Given the description of an element on the screen output the (x, y) to click on. 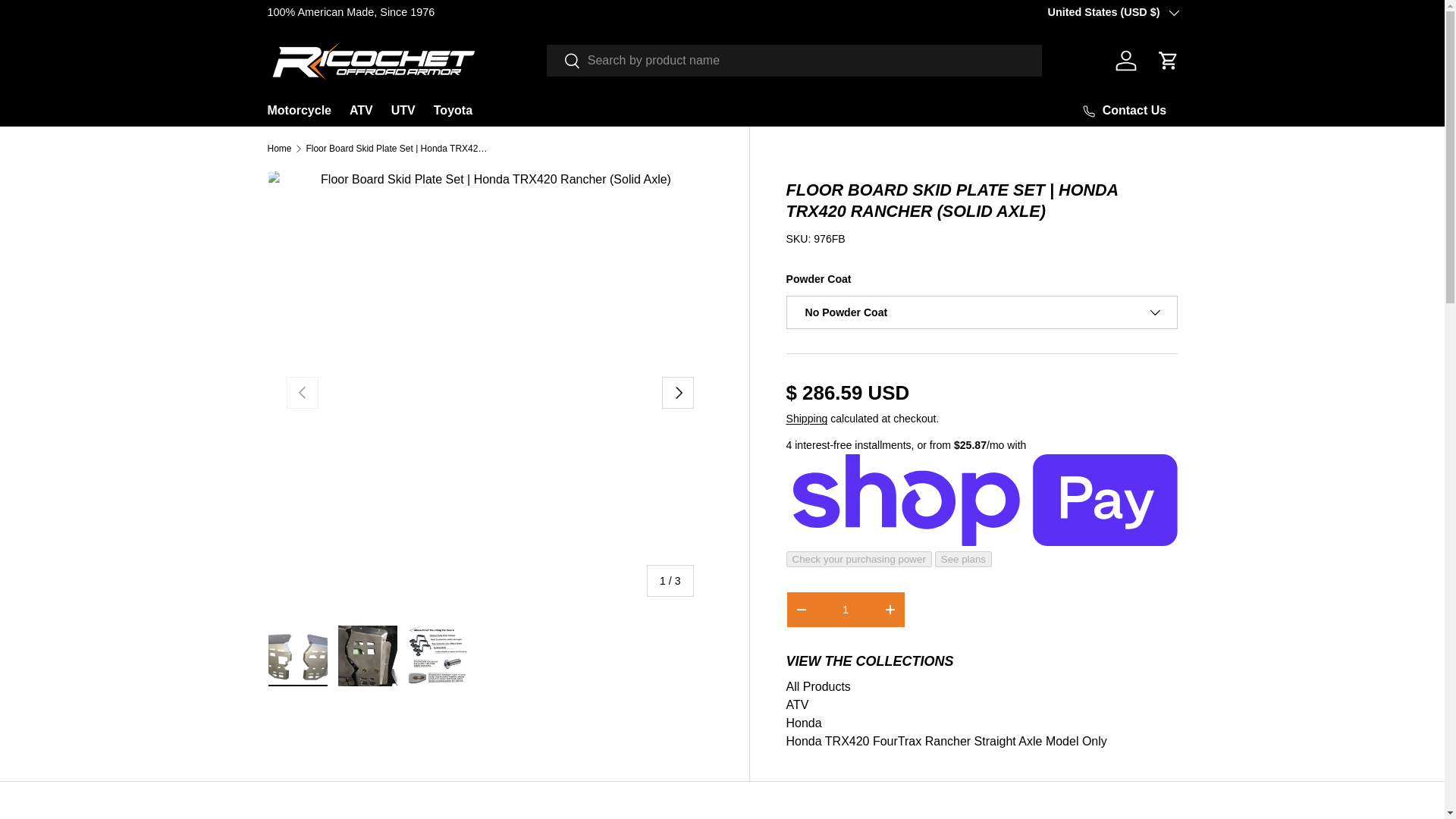
Motorcycle (298, 110)
Load image 3 in gallery view (436, 655)
Shipping (806, 418)
Load image 1 in gallery view (296, 655)
NEXT (677, 392)
ATV (797, 704)
Search (563, 61)
Home (278, 148)
No Powder Coat (981, 312)
- (801, 609)
